Given the description of an element on the screen output the (x, y) to click on. 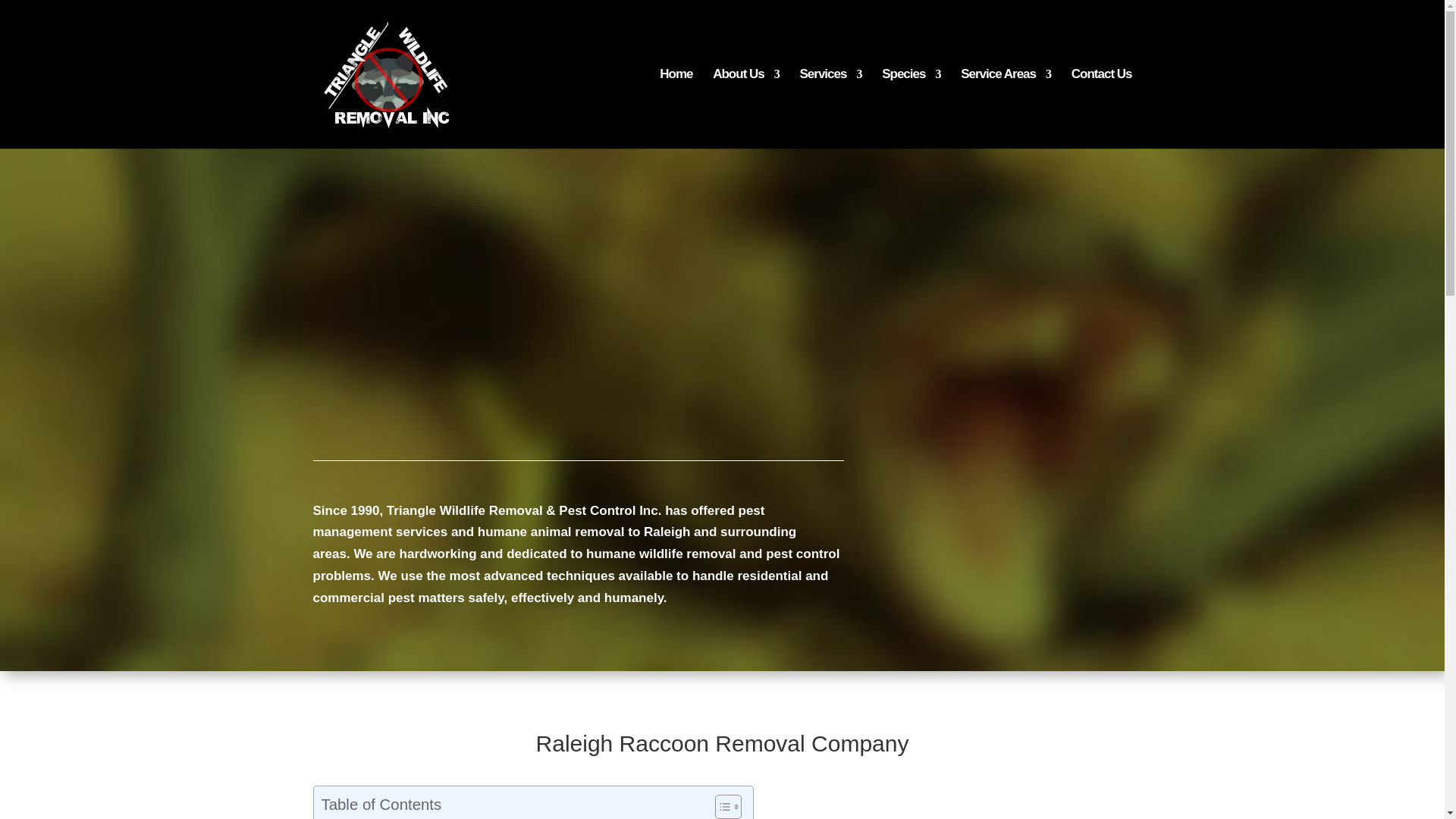
Service Areas (1005, 108)
